Given the description of an element on the screen output the (x, y) to click on. 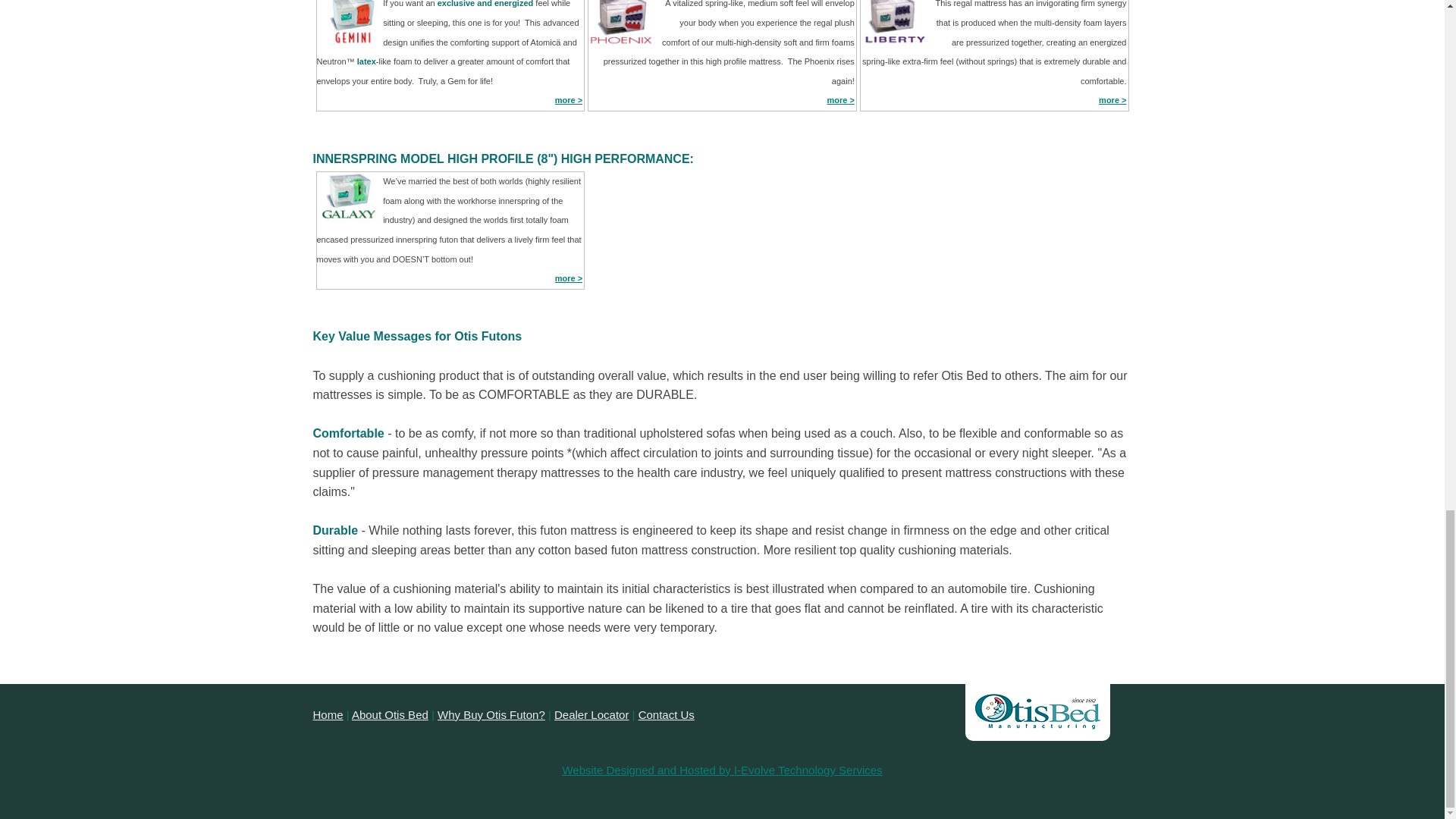
Phoenix (840, 99)
Liberty (1112, 99)
Phoenix (568, 277)
Gemini (568, 99)
